Given the description of an element on the screen output the (x, y) to click on. 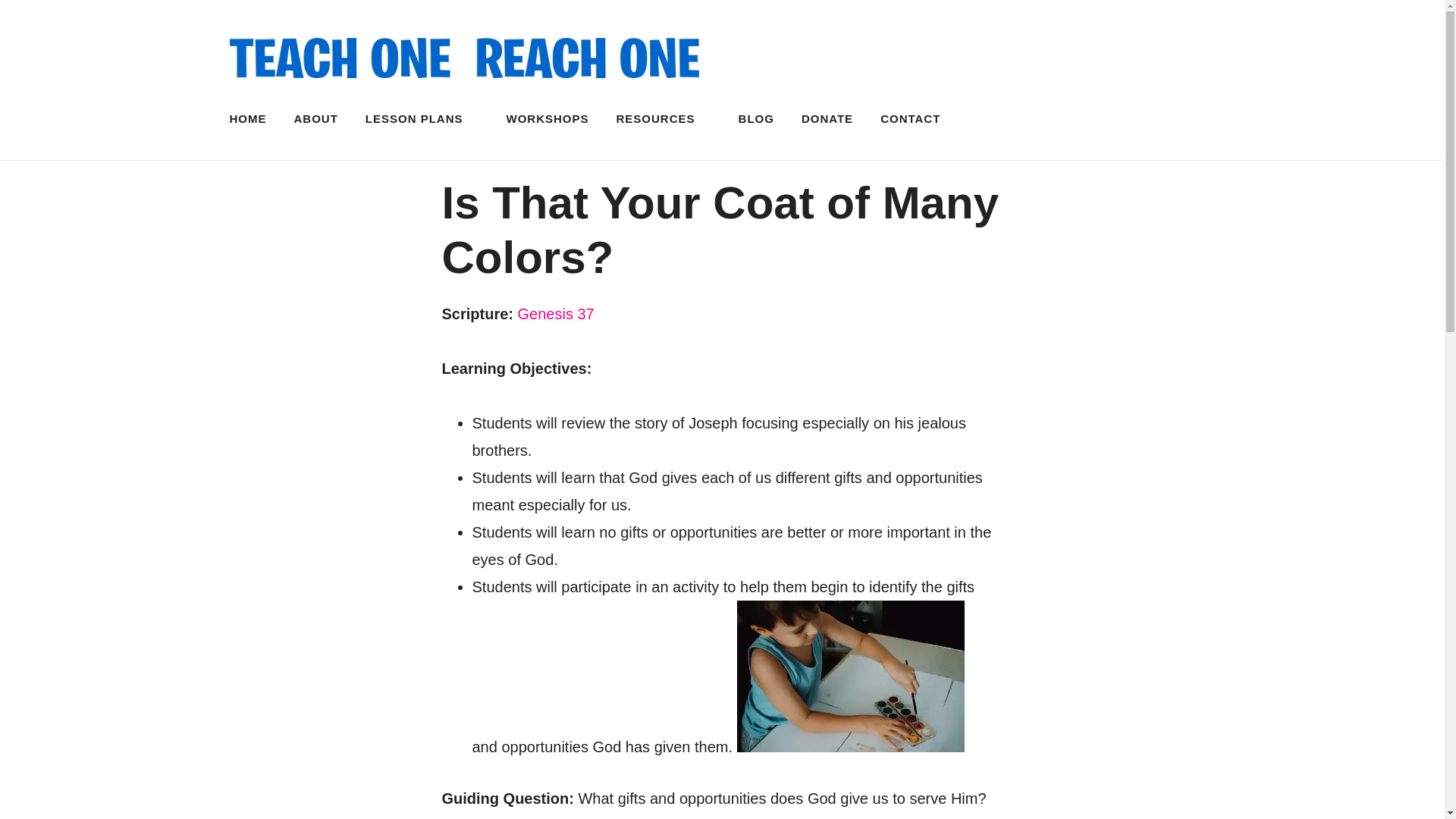
Instagram (1171, 119)
ABOUT (315, 118)
Teach One Reach One Ministries (968, 102)
Facebook (1141, 119)
Pinterest (1201, 119)
CONTACT (910, 118)
HOME (248, 118)
 Genesis 37 NIrV (556, 313)
BLOG (756, 118)
WORKSHOPS (547, 118)
